Given the description of an element on the screen output the (x, y) to click on. 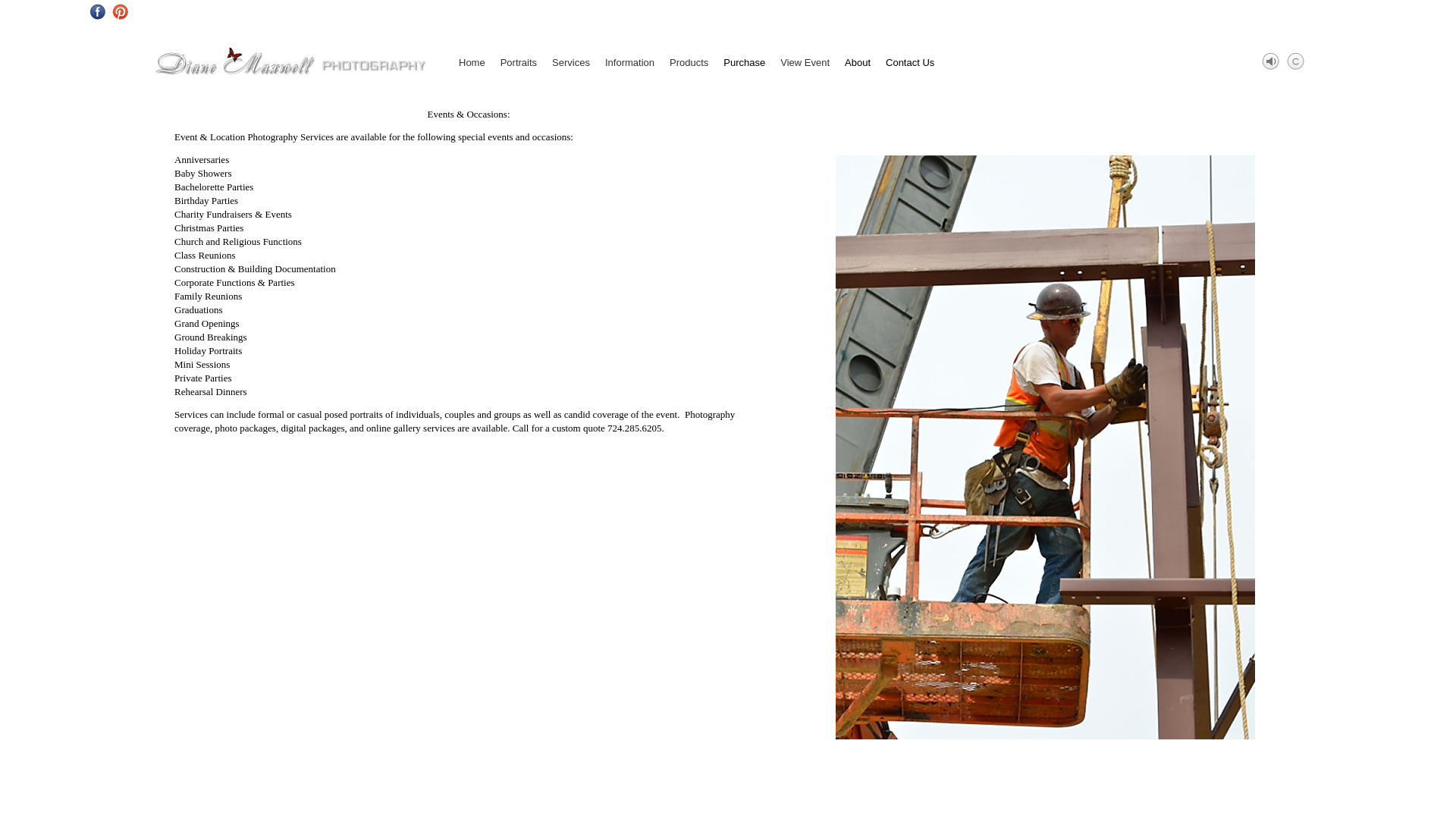
Products (689, 61)
Purchase (744, 61)
Portraits (518, 61)
Home (472, 61)
Pinterest (120, 11)
Facebook (98, 11)
View Event (805, 61)
Contact Us (905, 61)
About (857, 61)
Information (629, 61)
